Given the description of an element on the screen output the (x, y) to click on. 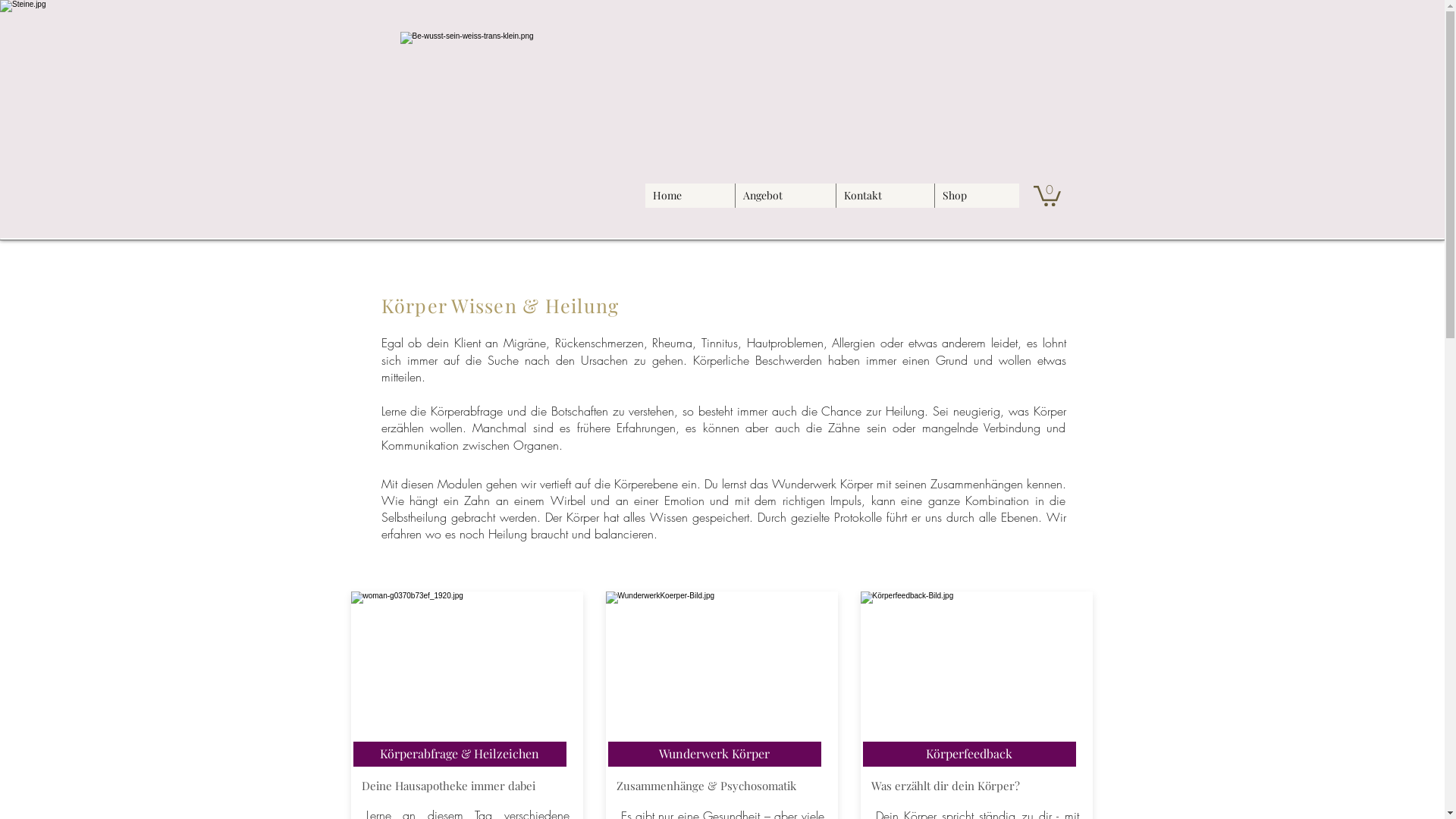
Shop Element type: text (976, 195)
Kontakt Element type: text (884, 195)
Home Element type: text (689, 195)
0 Element type: text (1046, 194)
Angebot Element type: text (784, 195)
